Given the description of an element on the screen output the (x, y) to click on. 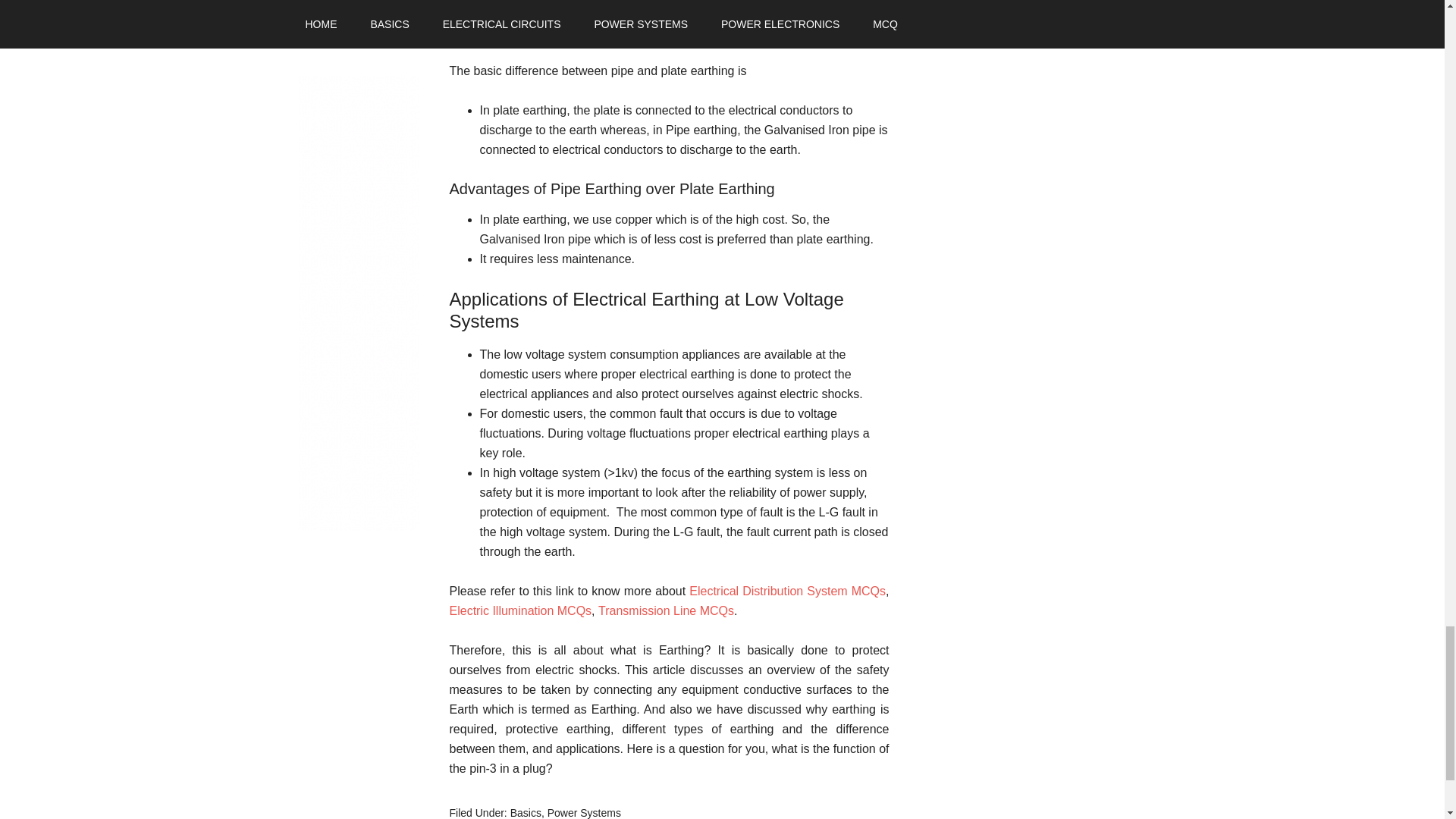
Basics (526, 812)
Transmission Line MCQs (665, 610)
Power Systems (584, 812)
Electrical Distribution System MCQs (786, 590)
Electric Illumination MCQs (519, 610)
